Given the description of an element on the screen output the (x, y) to click on. 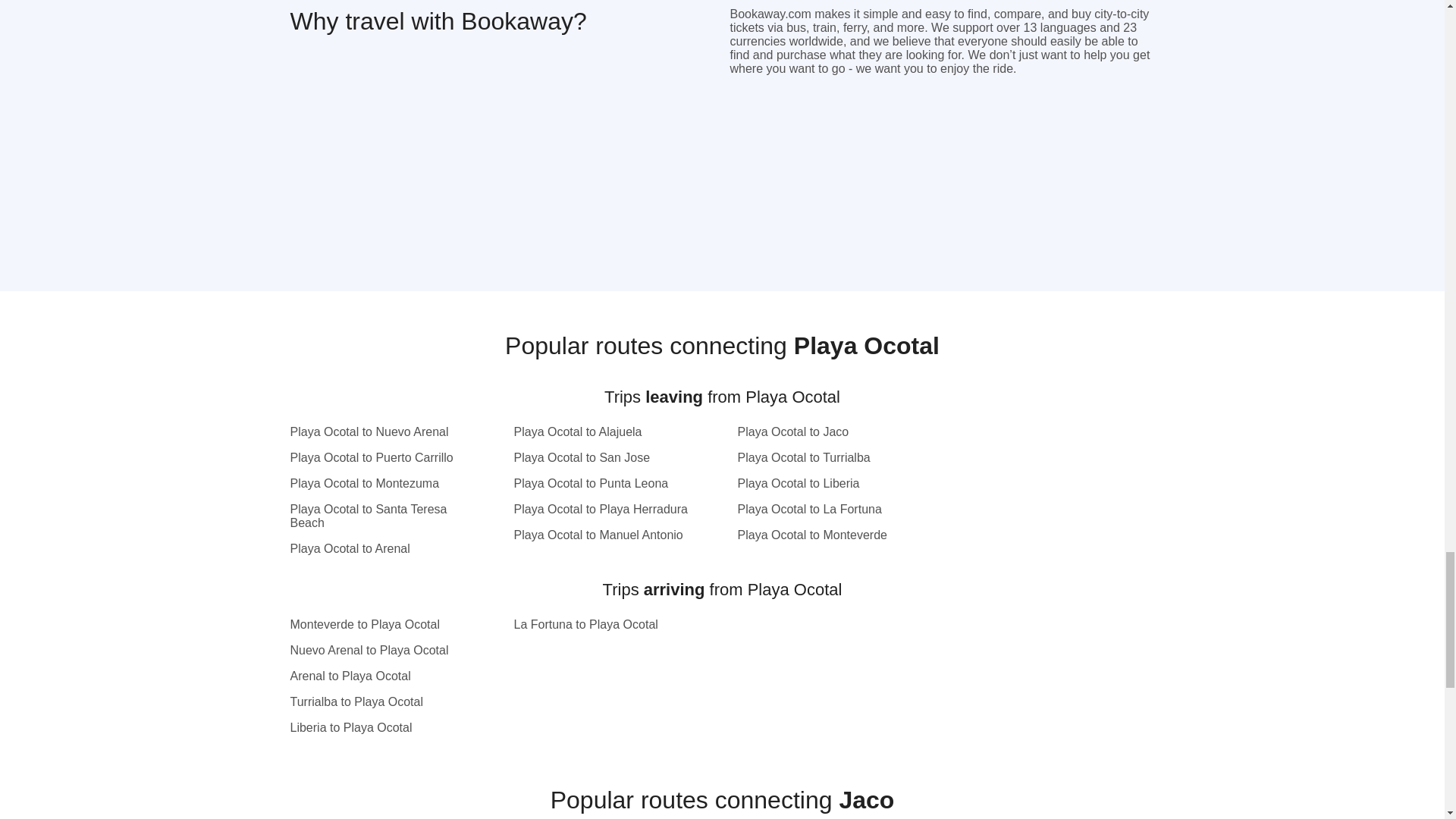
Playa Ocotal to Jaco (825, 431)
Playa Ocotal to Arenal (378, 549)
Playa Ocotal to Turrialba (825, 458)
Playa Ocotal to Punta Leona (603, 483)
Playa Ocotal to Puerto Carrillo (378, 458)
Playa Ocotal to Playa Herradura (603, 509)
Playa Ocotal to Alajuela (603, 431)
Playa Ocotal to Nuevo Arenal (378, 431)
Playa Ocotal to La Fortuna (825, 509)
Playa Ocotal to Montezuma (378, 483)
